Given the description of an element on the screen output the (x, y) to click on. 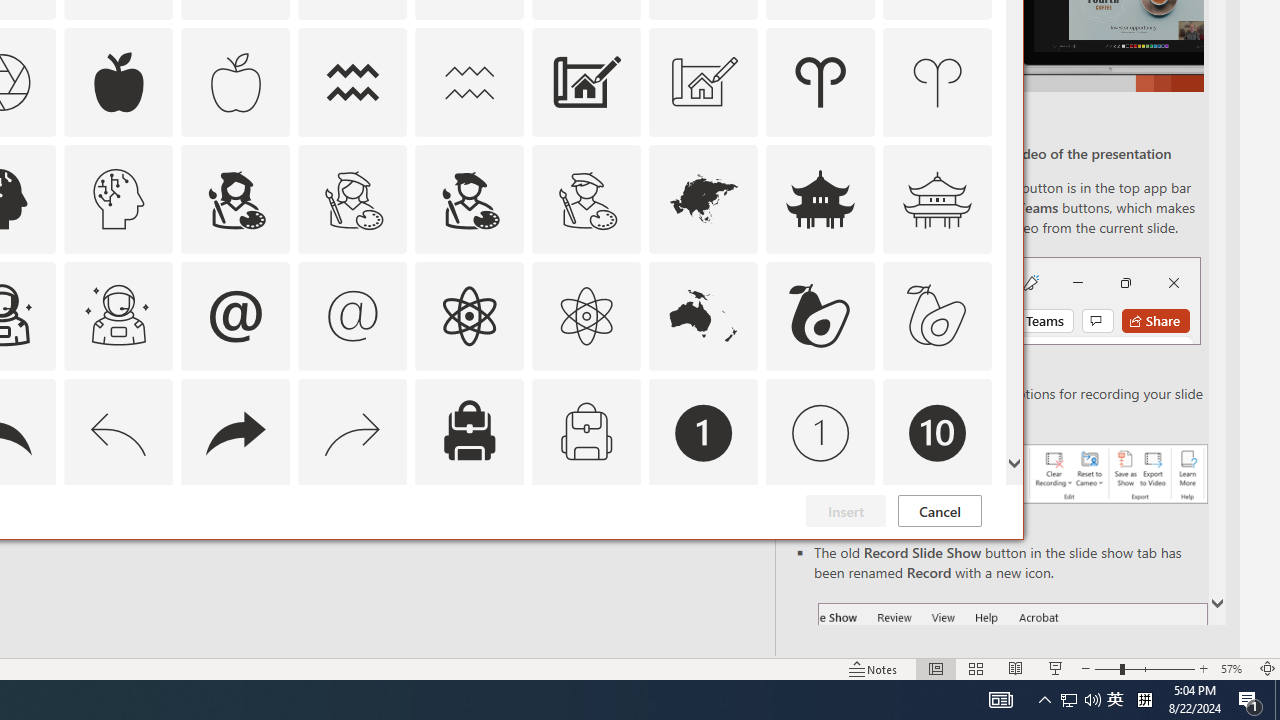
AutomationID: Icons_Asia (703, 198)
AutomationID: Icons_ArtistFemale_M (353, 198)
AutomationID: Icons_AstronautMale_M (118, 316)
AutomationID: Icons_ArtificialIntelligence_M (118, 198)
AutomationID: Icons_Avocado (820, 316)
AutomationID: Icons_Avocado_M (938, 316)
AutomationID: Icons_Badge6 (118, 550)
